Given the description of an element on the screen output the (x, y) to click on. 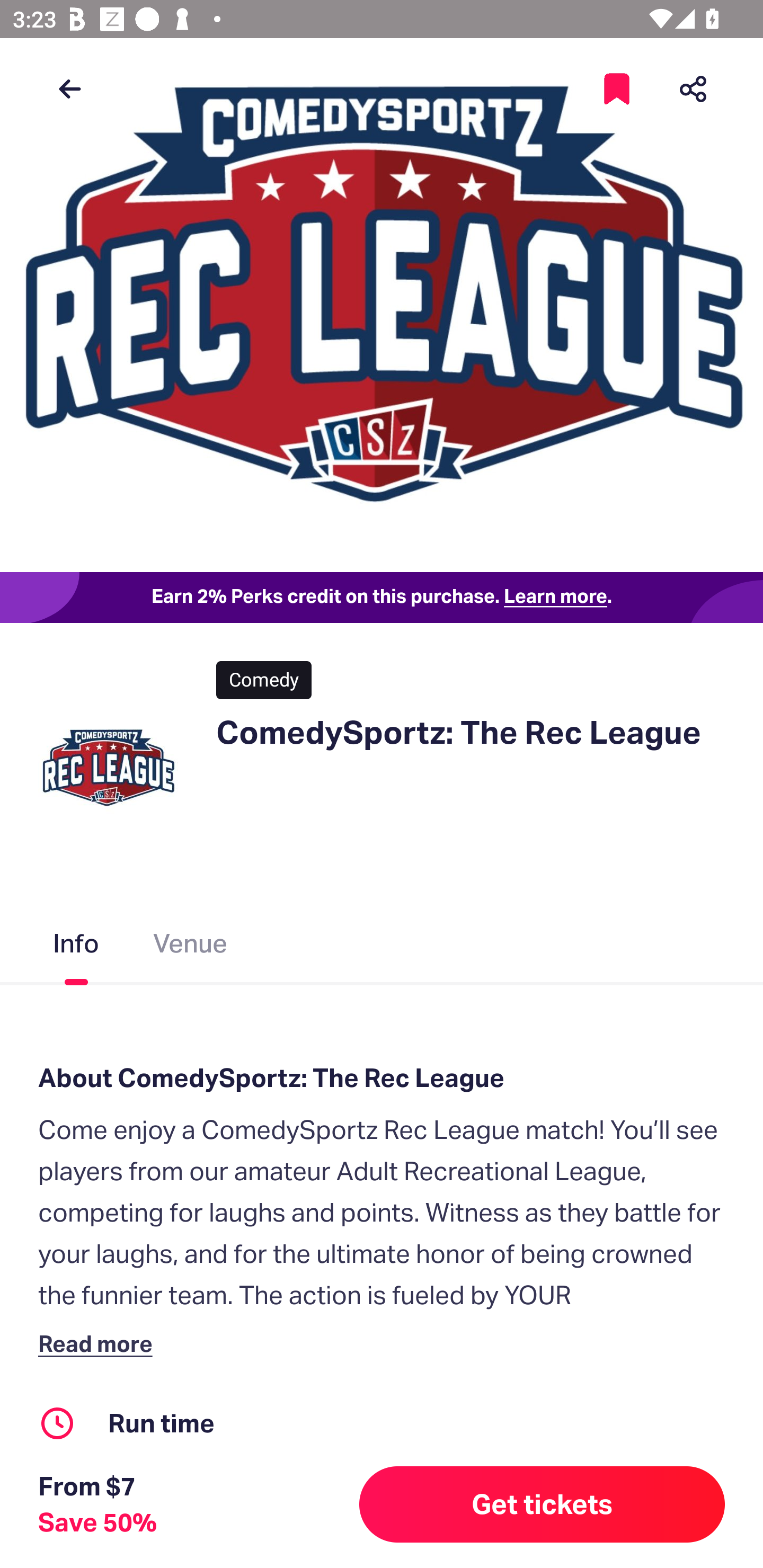
Earn 2% Perks credit on this purchase. Learn more. (381, 597)
Venue (190, 946)
About ComedySportz: The Rec League (381, 1077)
Read more (99, 1342)
Get tickets (541, 1504)
